Given the description of an element on the screen output the (x, y) to click on. 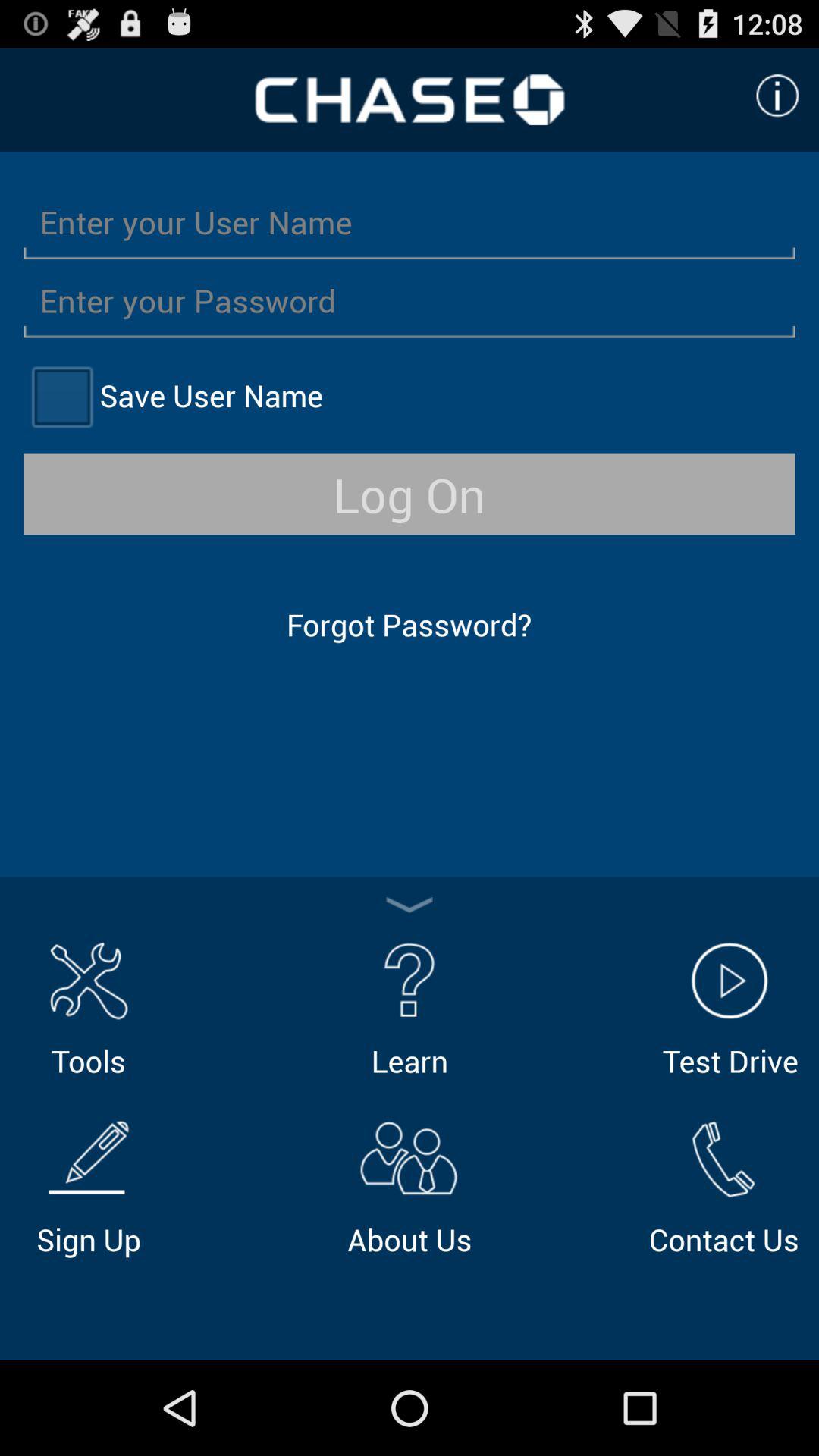
minimize options close options toggle options (409, 904)
